Given the description of an element on the screen output the (x, y) to click on. 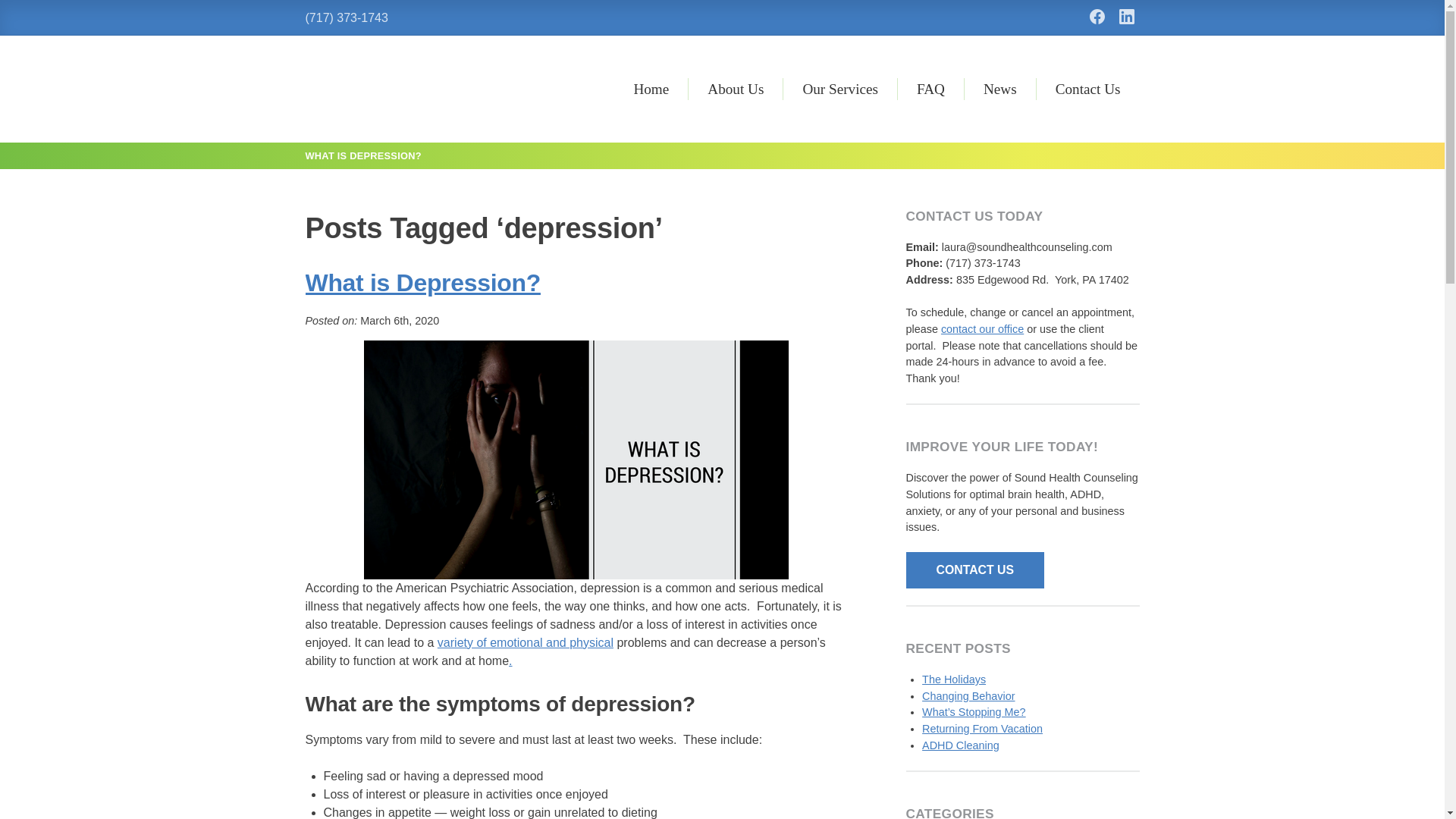
CONTACT US (974, 570)
ADHD Cleaning (959, 745)
FAQ (931, 88)
What is Depression? (422, 282)
Home (650, 88)
LinkedIn (1126, 16)
Returning From Vacation (981, 728)
The Holidays (953, 679)
Facebook (1096, 16)
Contact Us (1088, 88)
